Given the description of an element on the screen output the (x, y) to click on. 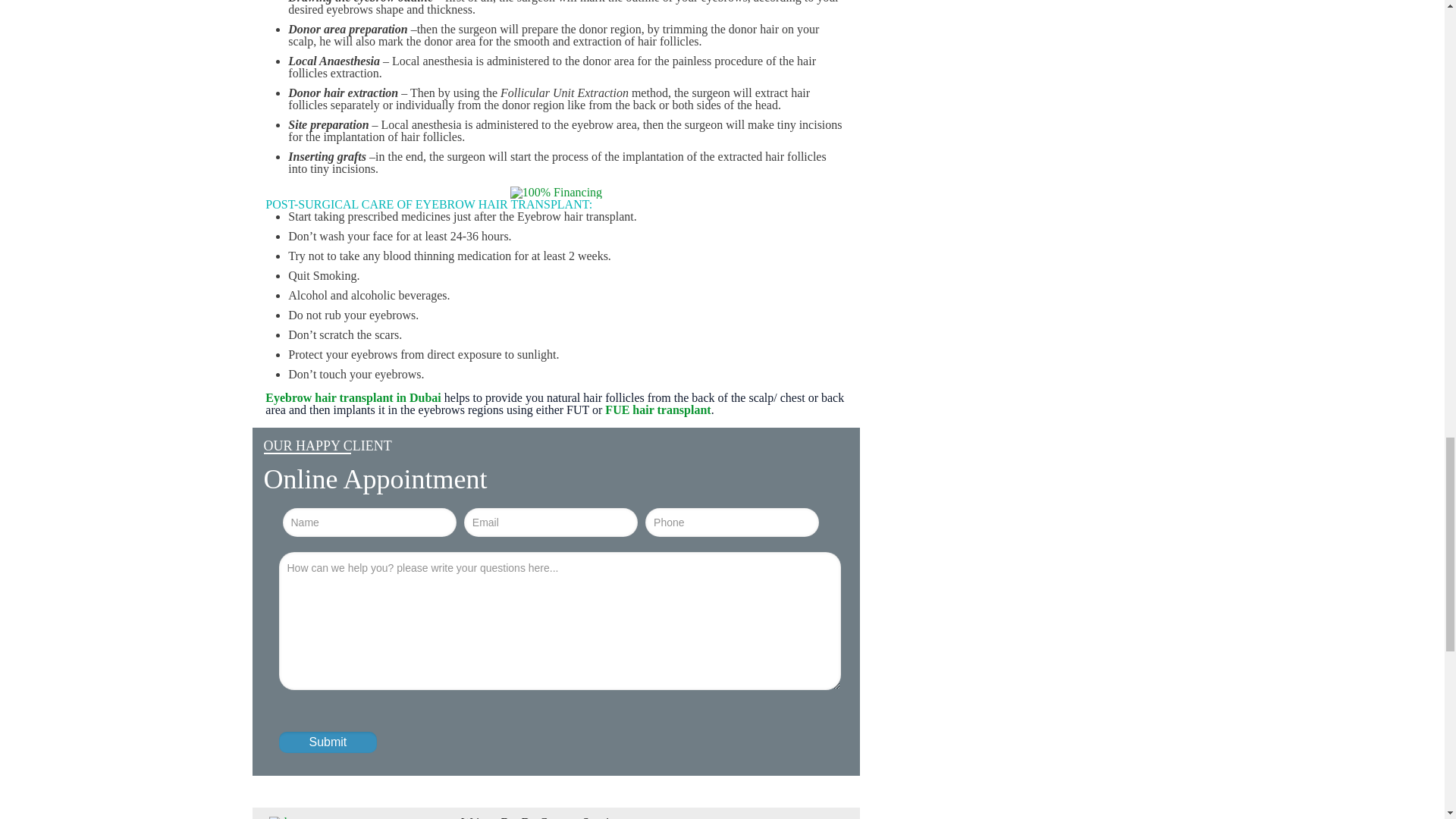
Submit (328, 742)
